Given the description of an element on the screen output the (x, y) to click on. 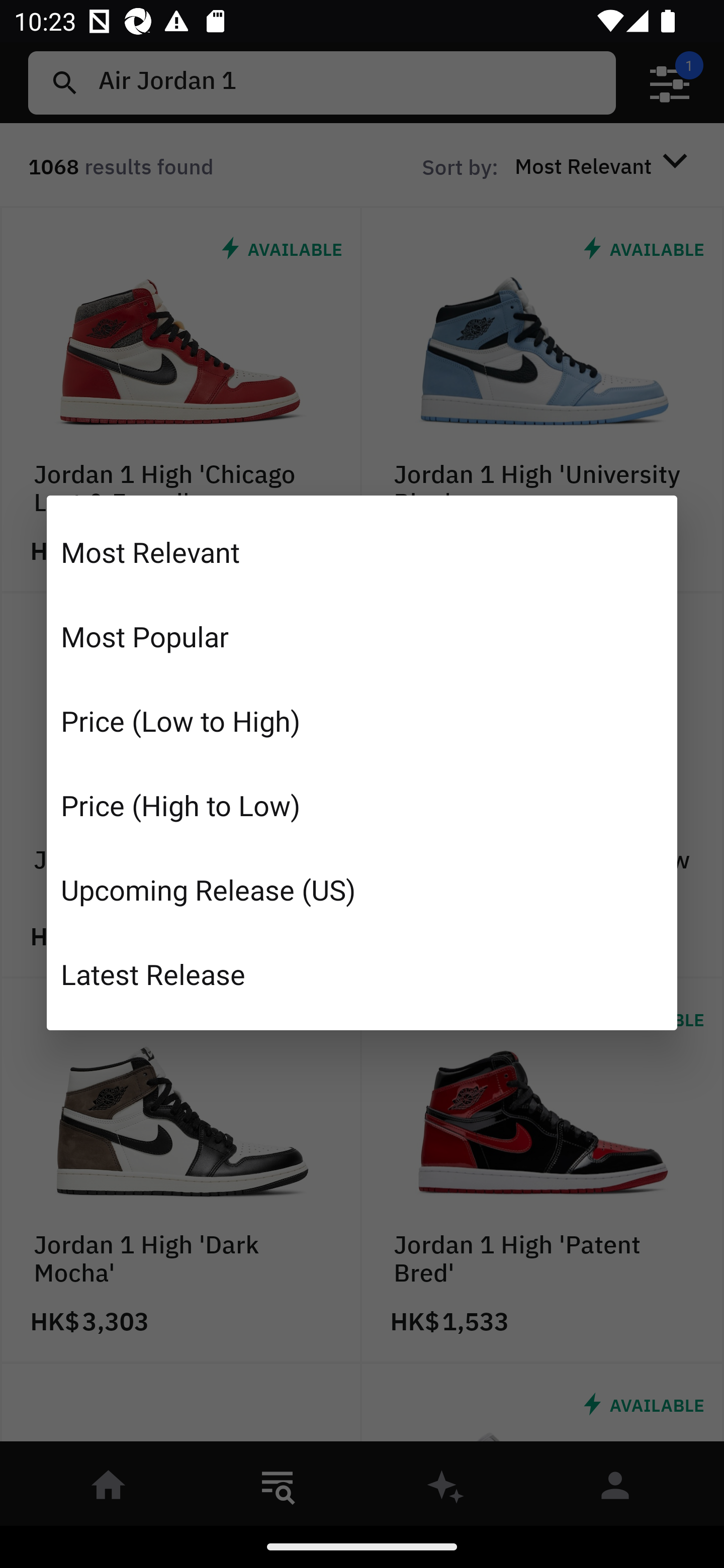
Most Relevant (361, 551)
Most Popular (361, 636)
Price (Low to High) (361, 720)
Price (High to Low) (361, 804)
Upcoming Release (US) (361, 888)
Latest Release (361, 973)
